Given the description of an element on the screen output the (x, y) to click on. 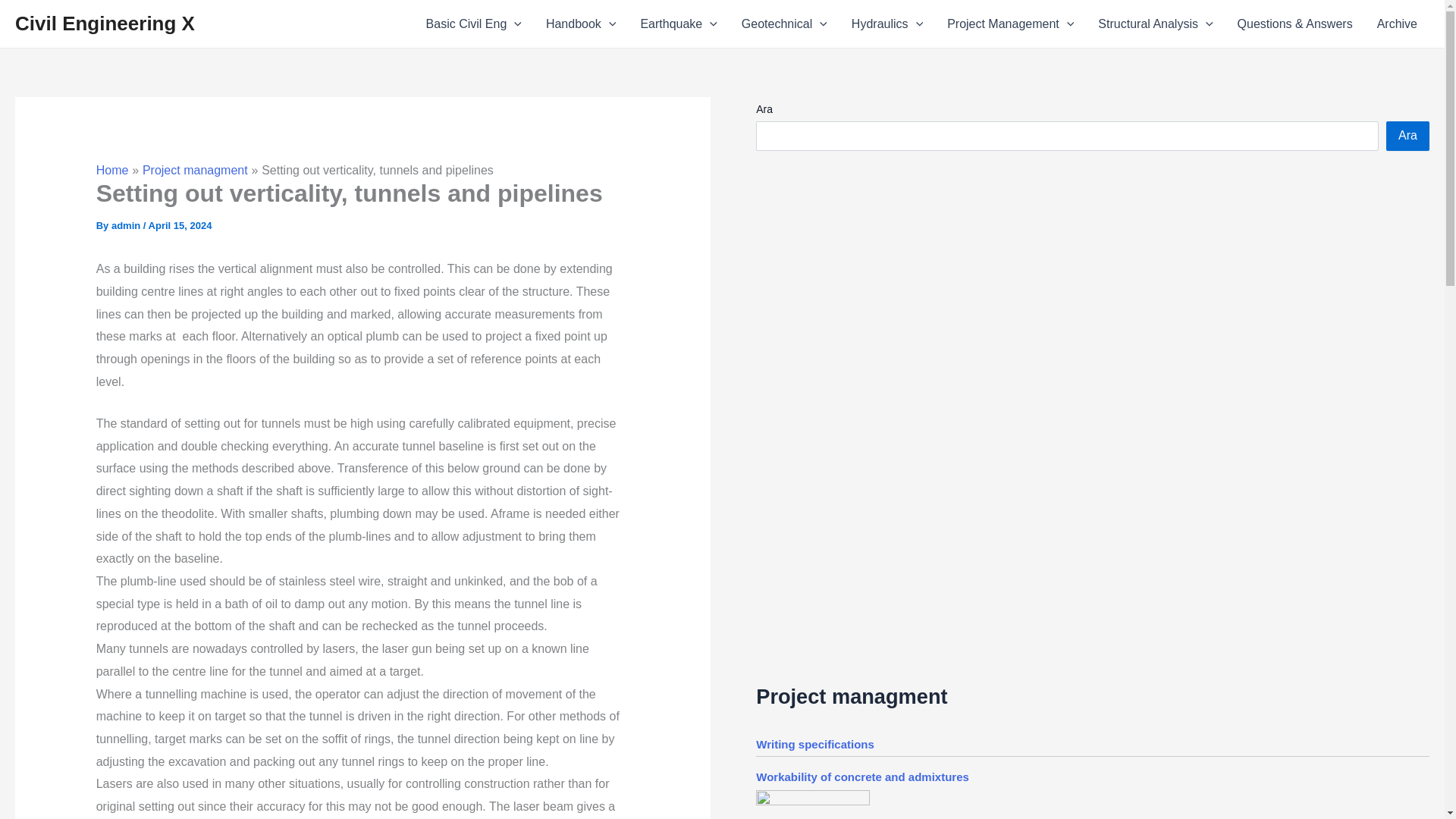
View all posts by admin (127, 225)
Civil Engineering X (104, 23)
Workability of concrete and admixtures (862, 776)
Handbook (581, 23)
Writing specifications (815, 744)
Basic Civil Eng (473, 23)
